Given the description of an element on the screen output the (x, y) to click on. 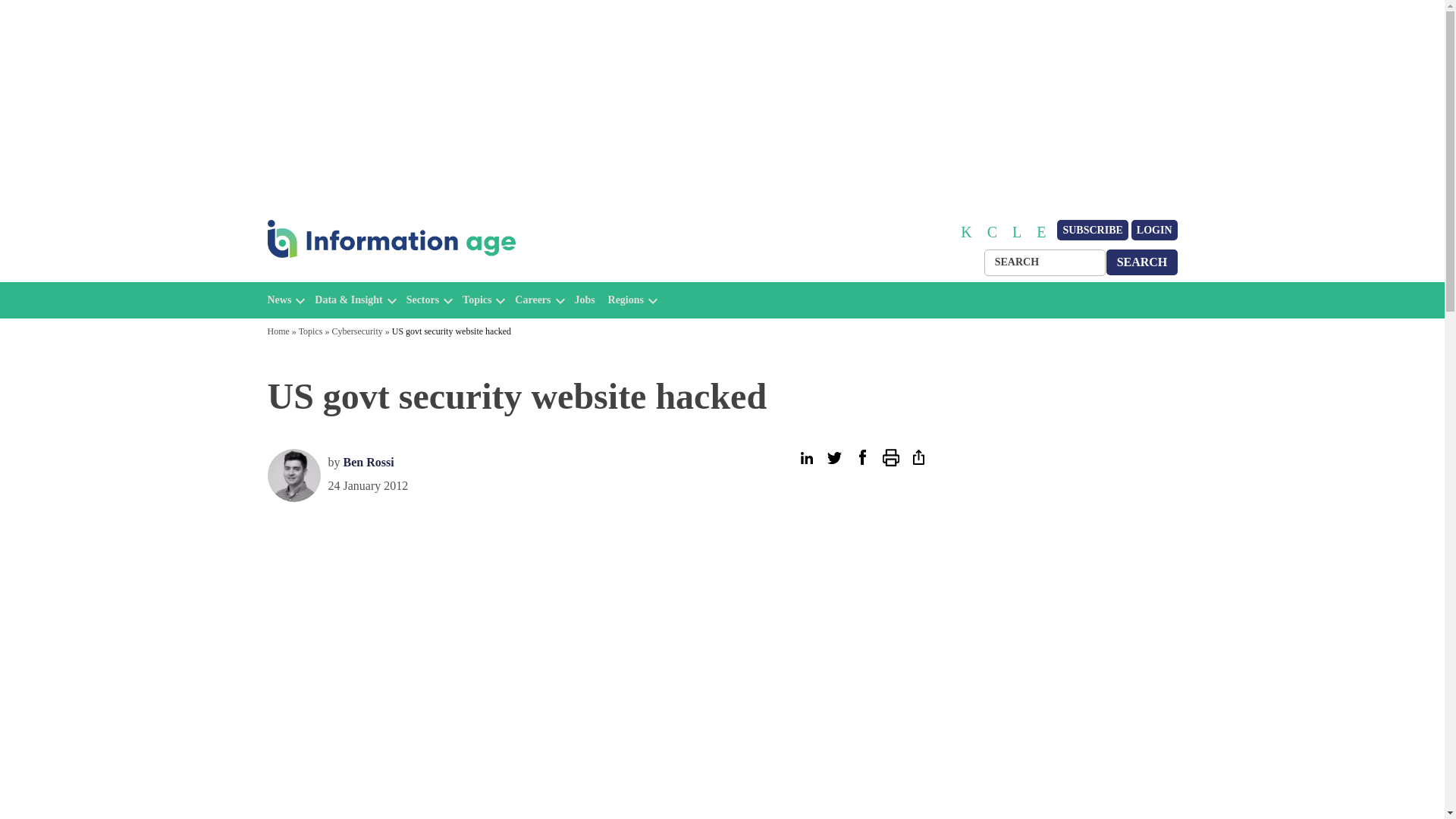
Information Age (331, 275)
LOGIN (1154, 230)
Share on Facebook (861, 457)
Print this article (890, 457)
SUBSCRIBE (1091, 230)
News (278, 299)
Share on LinkedIn (805, 457)
Tweet this article (835, 457)
SEARCH (1142, 261)
Sectors (422, 299)
